Given the description of an element on the screen output the (x, y) to click on. 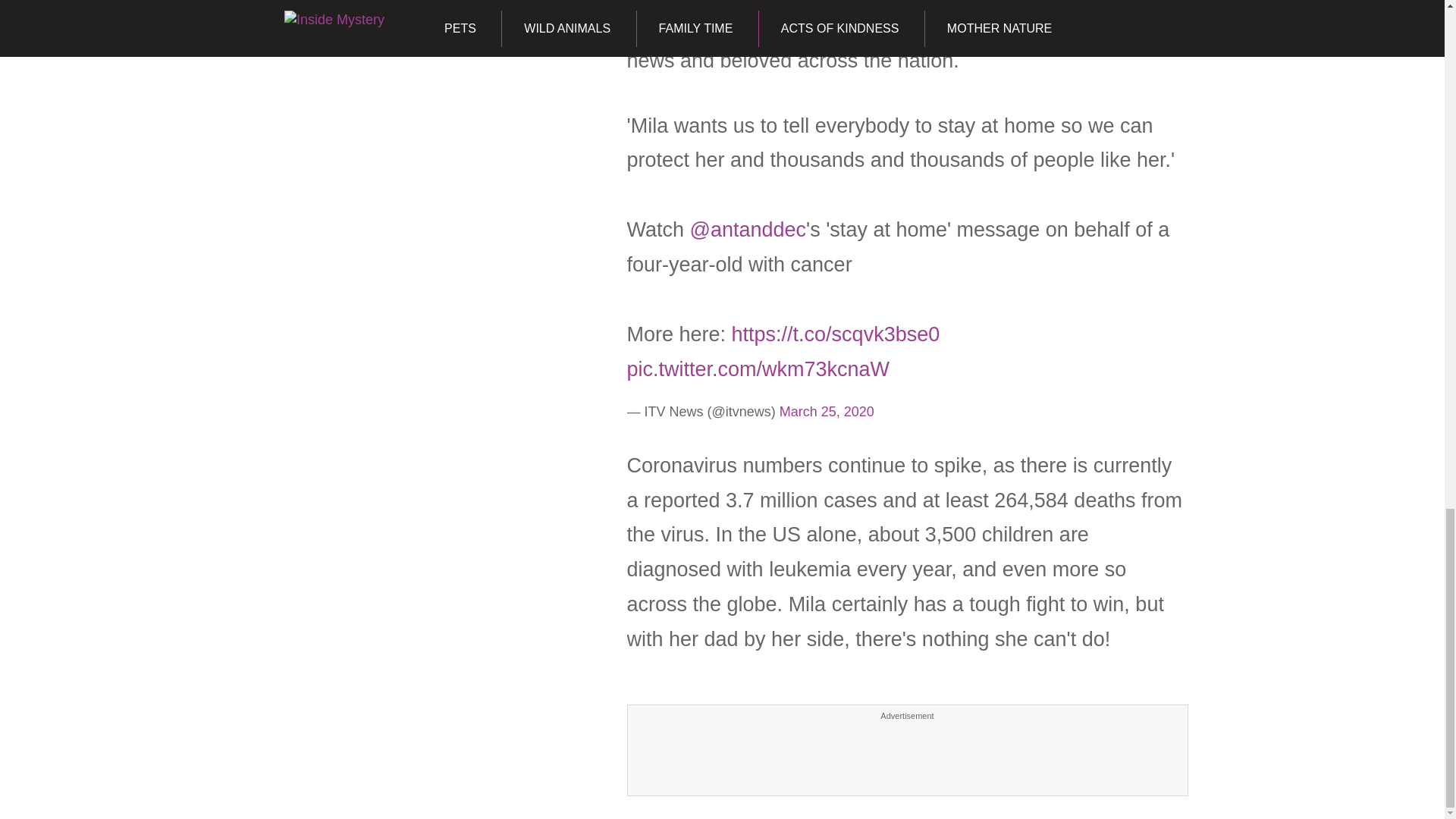
March 25, 2020 (826, 411)
